Given the description of an element on the screen output the (x, y) to click on. 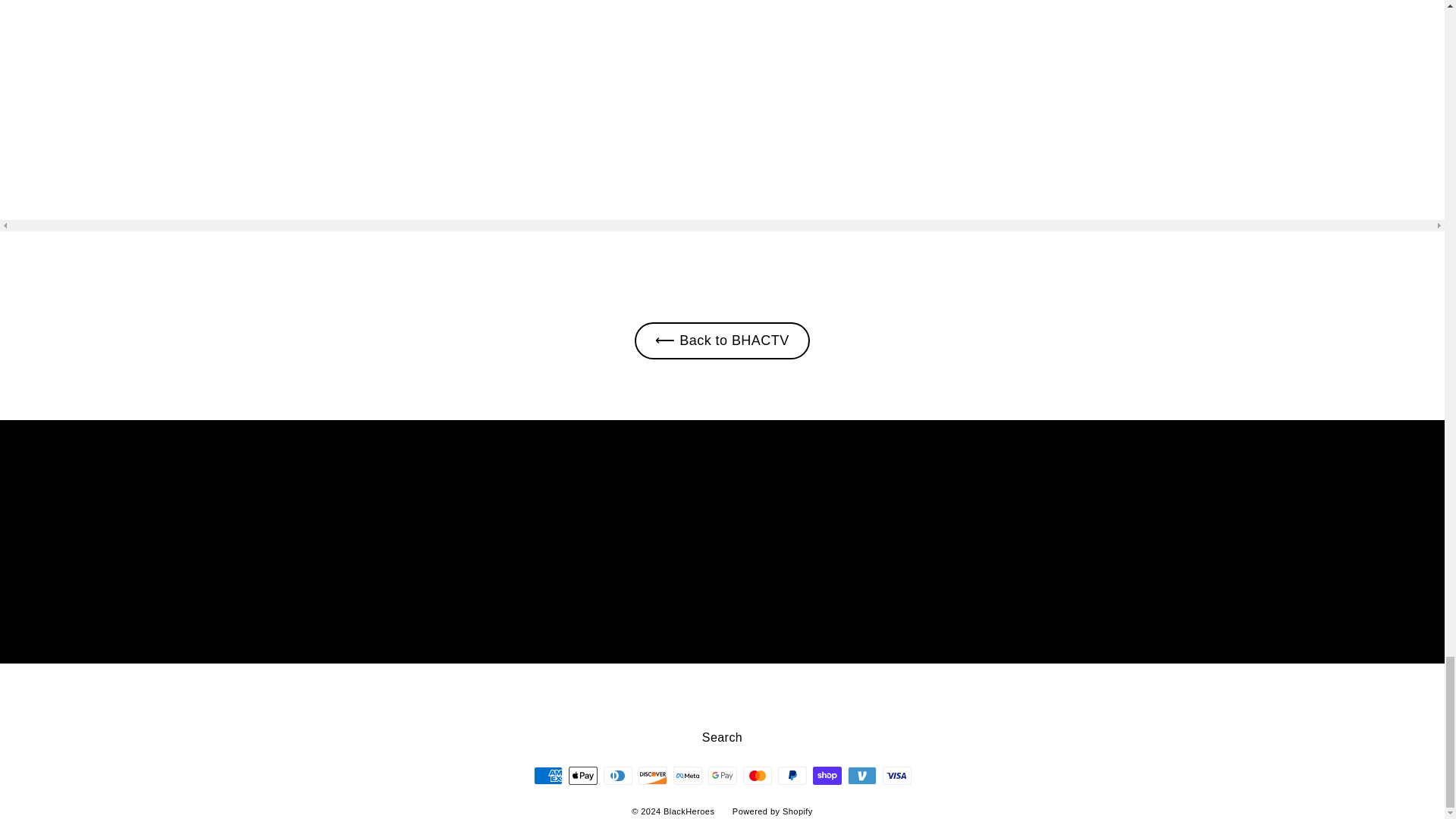
Apple Pay (582, 775)
Venmo (861, 775)
Shop Pay (826, 775)
Mastercard (756, 775)
American Express (548, 775)
Meta Pay (686, 775)
Diners Club (617, 775)
PayPal (791, 775)
Visa (896, 775)
Google Pay (721, 775)
